Given the description of an element on the screen output the (x, y) to click on. 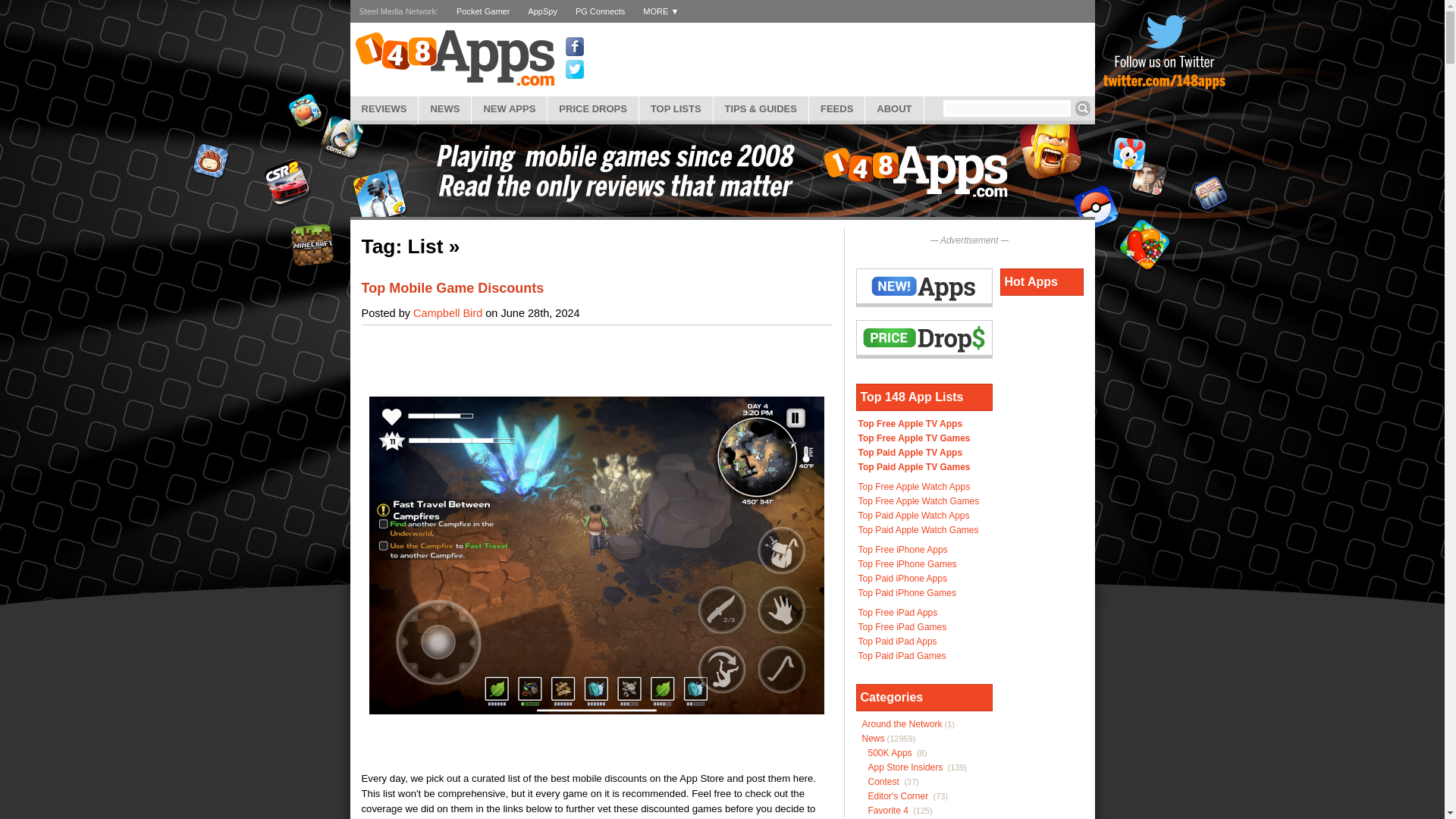
Top Free Apple Watch Apps (915, 486)
Campbell Bird (447, 313)
Top Paid iPhone Apps (903, 578)
ABOUT (893, 108)
iPhone News (444, 108)
Top Free iPhone Apps (903, 549)
NEW APPS (509, 108)
Top Paid Apple Watch Games (918, 529)
Top Free Apple TV Games (915, 438)
PRICE DROPS (593, 108)
REVIEWS (384, 108)
About (893, 108)
Top Free Apple TV Apps (910, 423)
Top Paid Apple Watch Apps (914, 515)
Top Paid Apple TV Apps (910, 452)
